Given the description of an element on the screen output the (x, y) to click on. 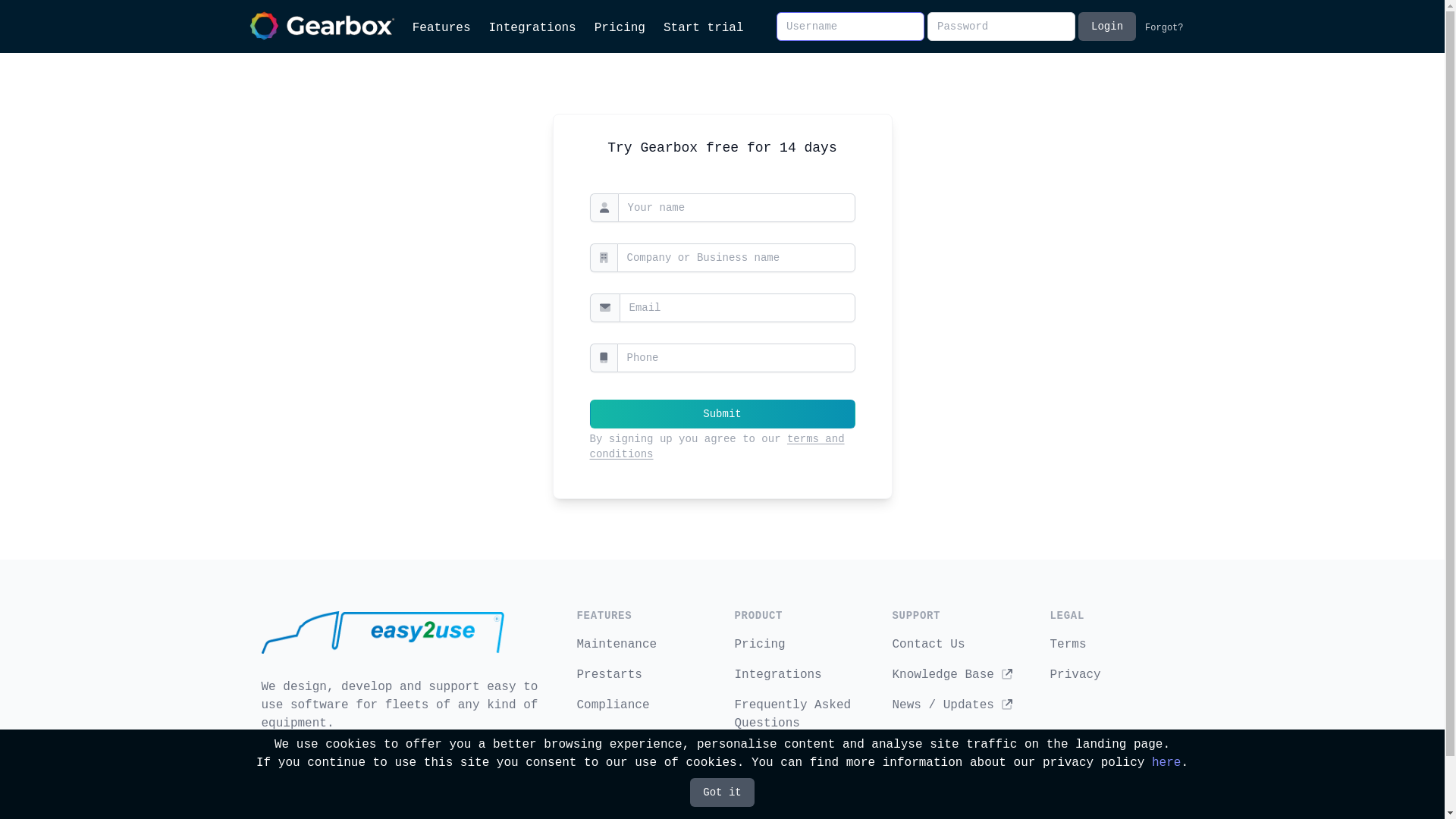
Clear All Cookies Element type: text (953, 765)
Maintenance Element type: text (616, 644)
Forgot? Element type: text (1161, 26)
terms and conditions Element type: text (716, 446)
Pricing Element type: text (759, 644)
Start trial Element type: text (703, 27)
API Docs Element type: text (771, 753)
Parts & Inventory Element type: text (637, 765)
Privacy Element type: text (1074, 674)
Cookie Settings Element type: text (946, 735)
Frequently Asked Questions Element type: text (792, 714)
Employees Element type: text (608, 735)
News / Updates Element type: text (951, 705)
Got it Element type: text (721, 792)
Submit Element type: text (722, 413)
Login Element type: text (1106, 26)
here Element type: text (1165, 762)
Compliance Element type: text (612, 705)
Contact Us Element type: text (927, 644)
Knowledge Base Element type: text (951, 674)
Pricing Element type: text (619, 27)
Integrations Element type: text (777, 674)
Integrations Element type: text (531, 27)
Terms Element type: text (1067, 644)
Prestarts Element type: text (608, 674)
